Given the description of an element on the screen output the (x, y) to click on. 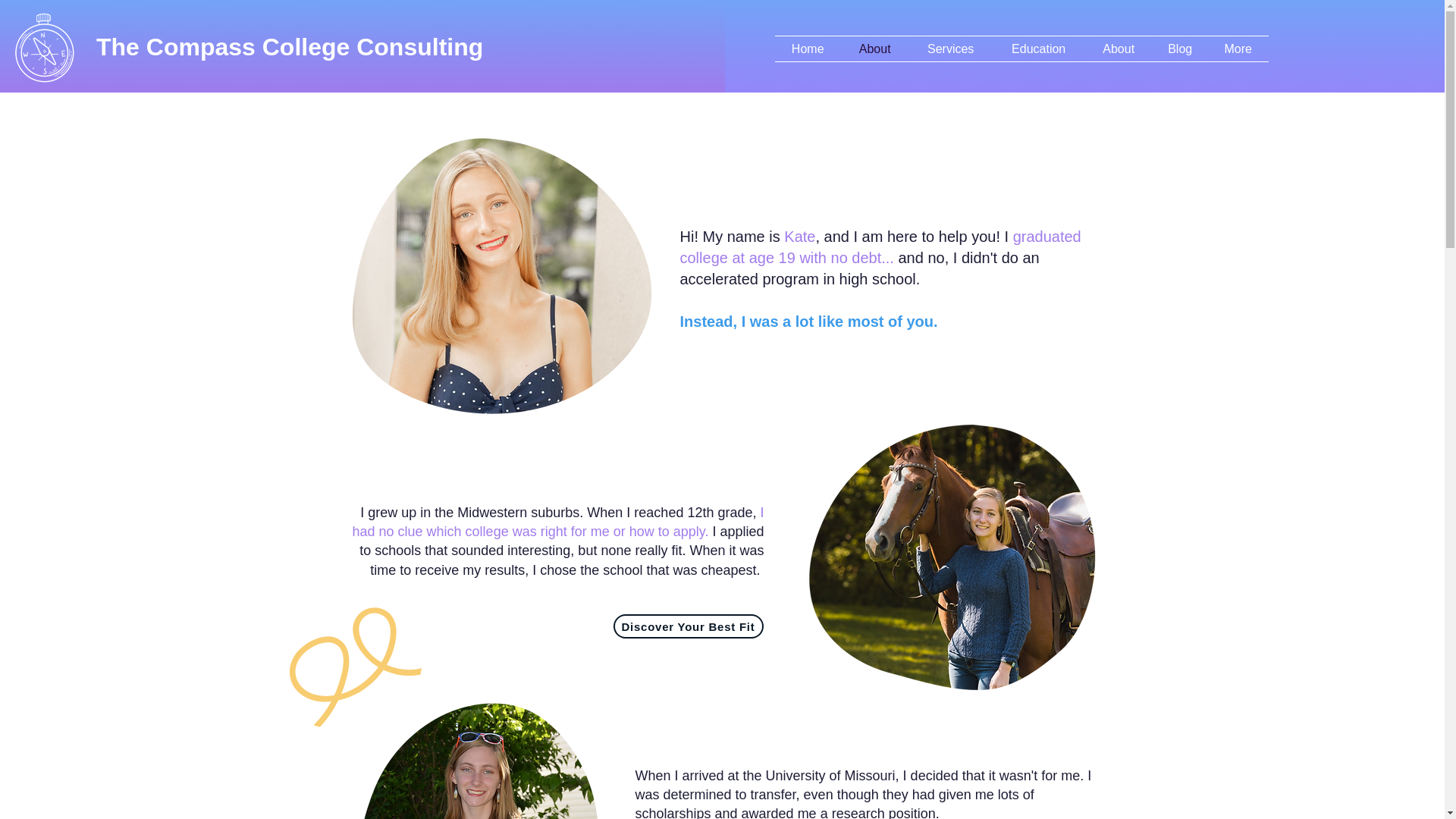
Services (950, 48)
The Compass College Consulting (289, 46)
About (874, 48)
Home (807, 48)
Discover Your Best Fit (687, 626)
Blog (1180, 48)
Education (1038, 48)
About (1118, 48)
